Given the description of an element on the screen output the (x, y) to click on. 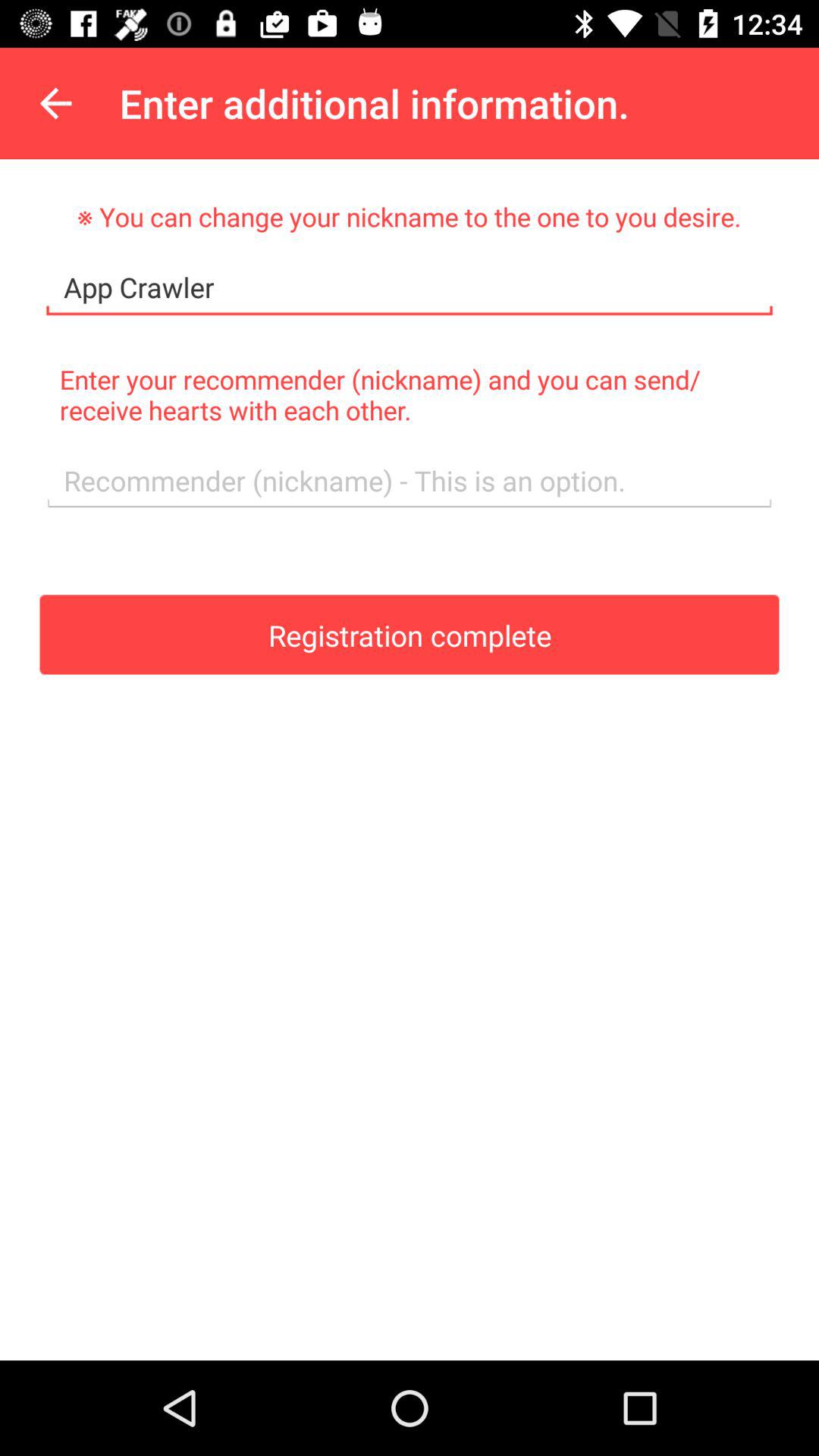
recommend someone (409, 481)
